Given the description of an element on the screen output the (x, y) to click on. 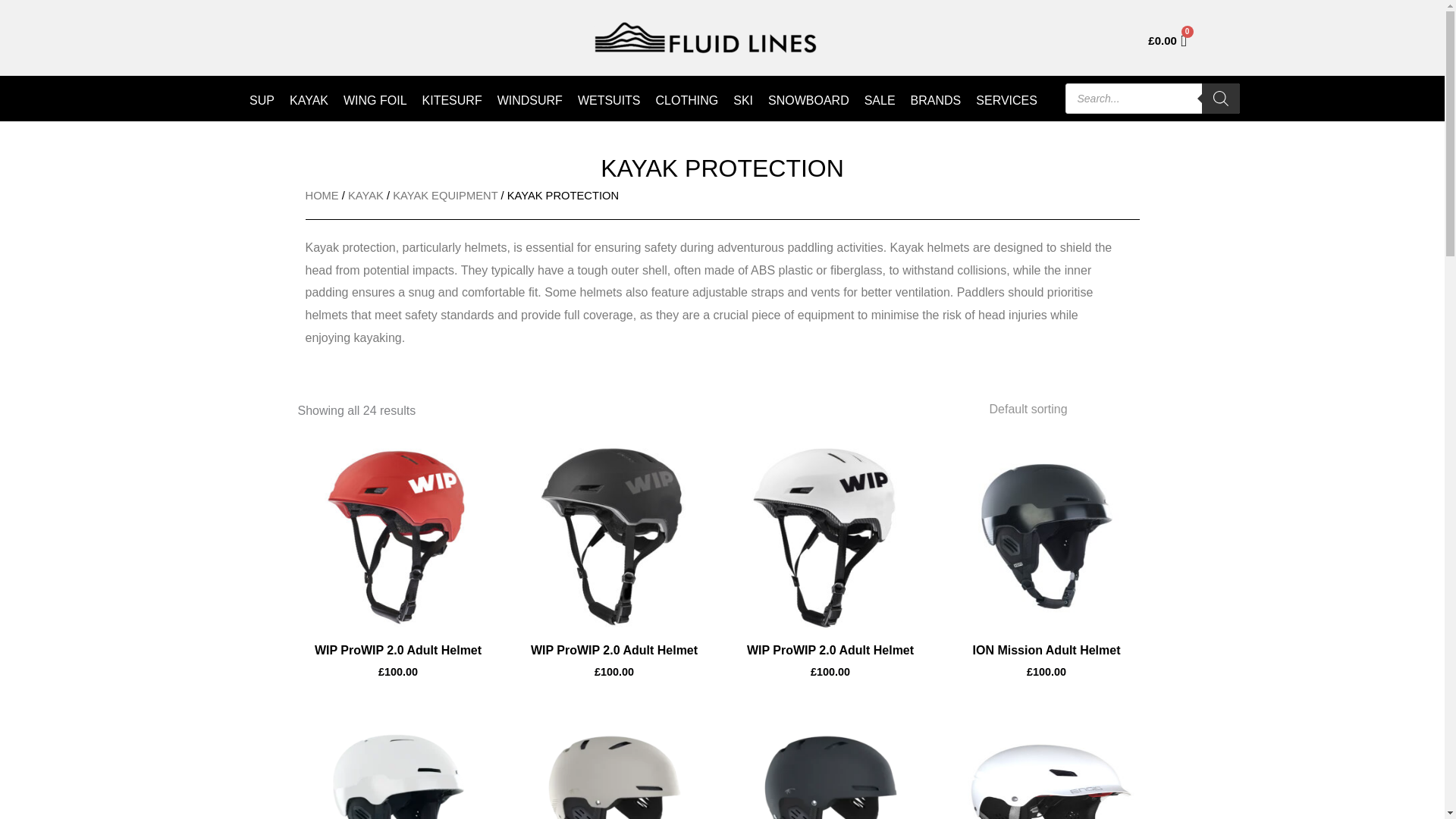
SUP (261, 100)
KAYAK (309, 100)
